Given the description of an element on the screen output the (x, y) to click on. 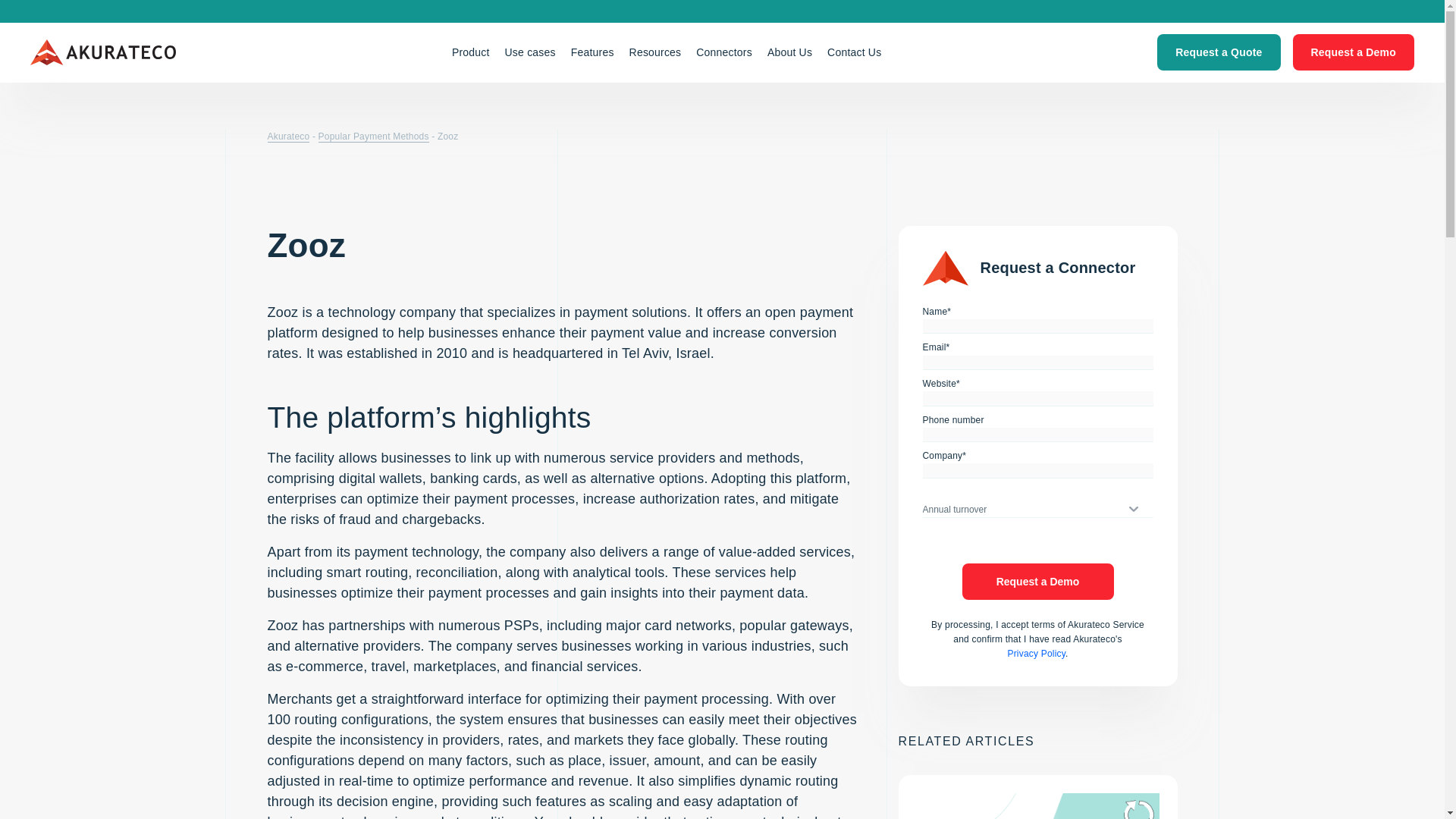
Connectors (724, 51)
Contact Us (853, 51)
Akurateco (103, 51)
Request a Demo (1352, 52)
Request a Quote (1218, 52)
About Us (789, 51)
